Given the description of an element on the screen output the (x, y) to click on. 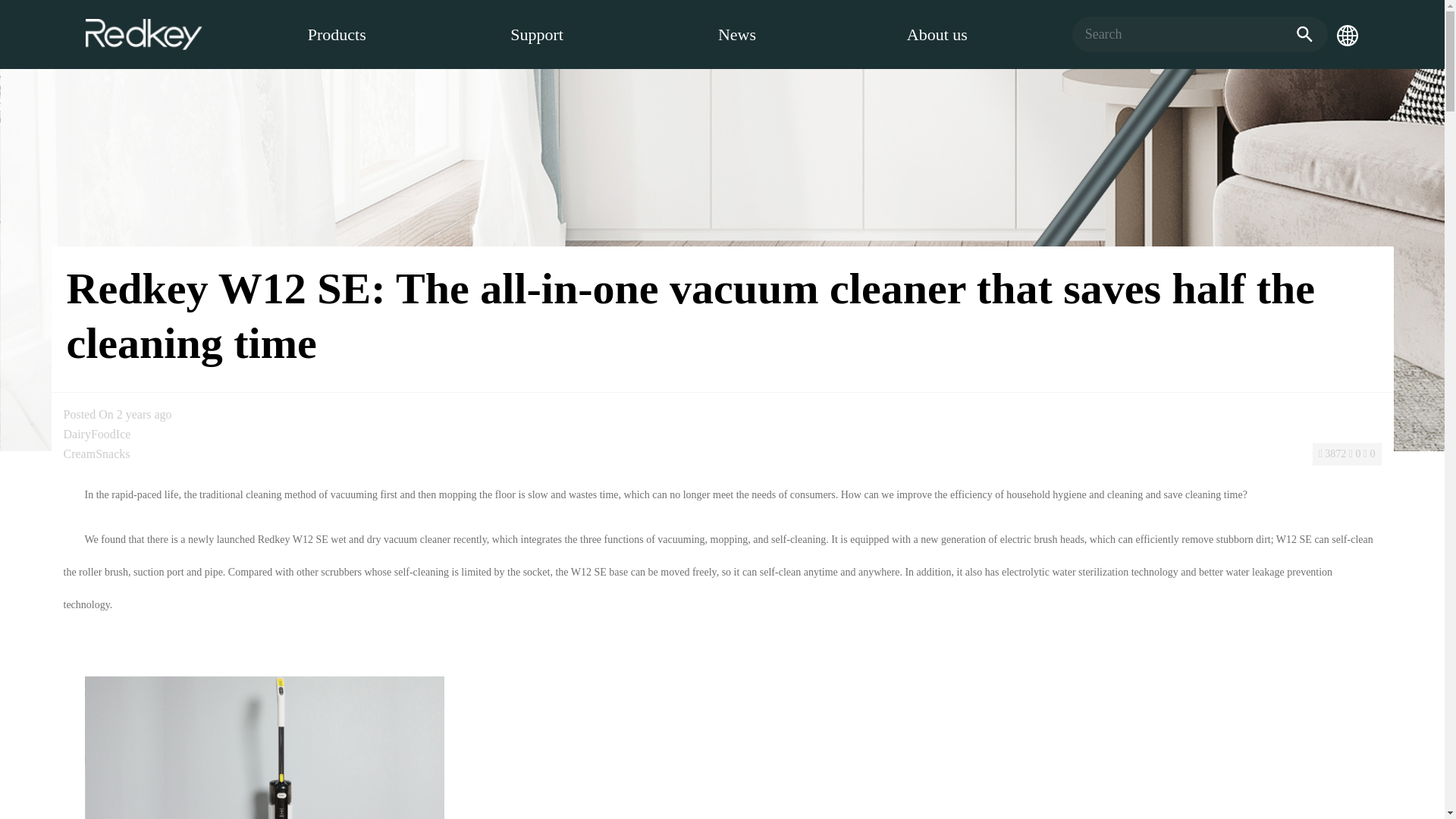
About us (937, 34)
Support (537, 34)
News (736, 34)
Products (336, 34)
